Given the description of an element on the screen output the (x, y) to click on. 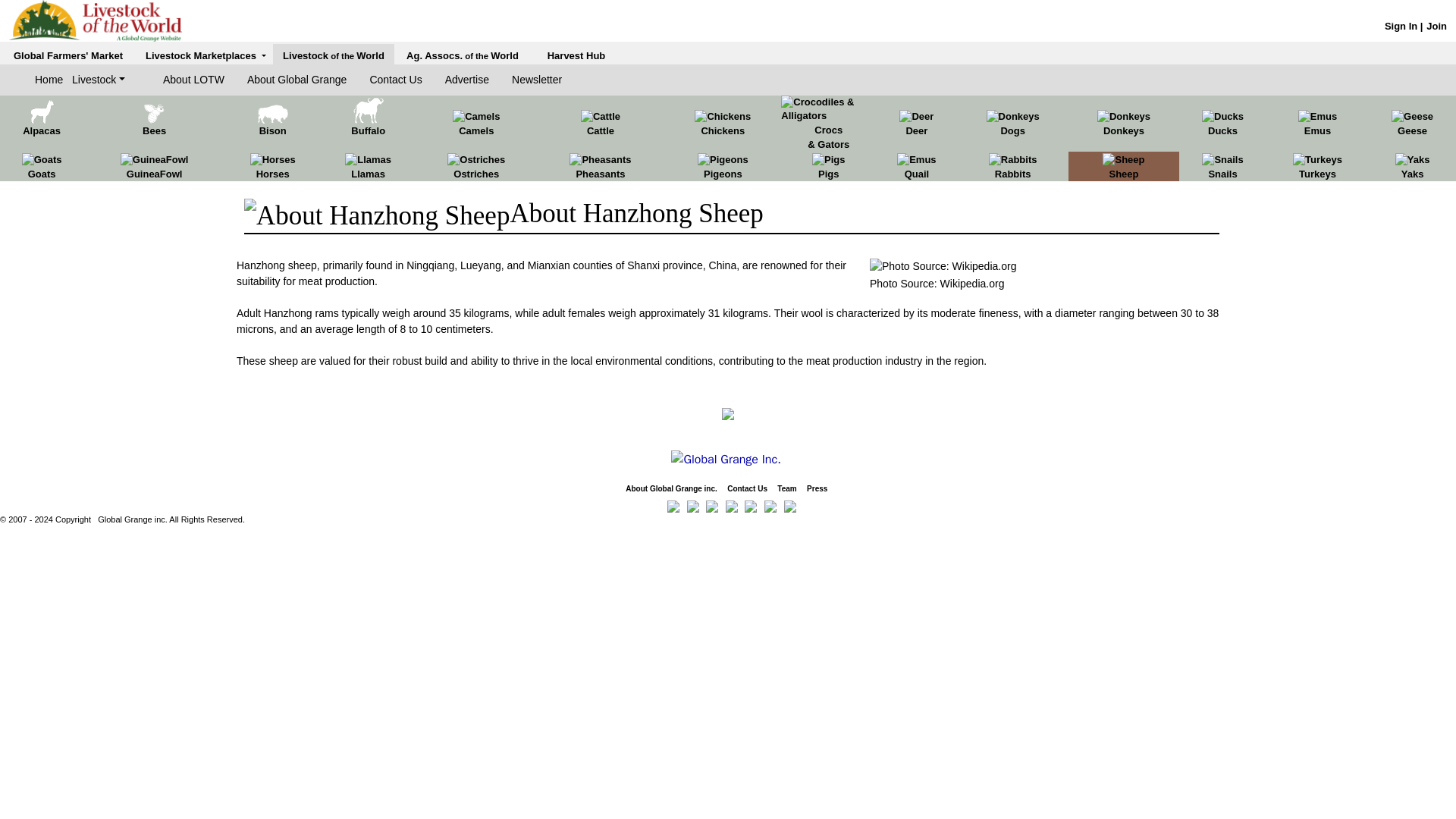
Harvest Hub (576, 55)
Ag. Assocs. of the World (462, 55)
Home    (52, 79)
Global Farmers' Market (67, 55)
Livestock Marketplaces (205, 55)
Livestock of the World (333, 55)
Join (1436, 25)
Livestock (98, 79)
